Given the description of an element on the screen output the (x, y) to click on. 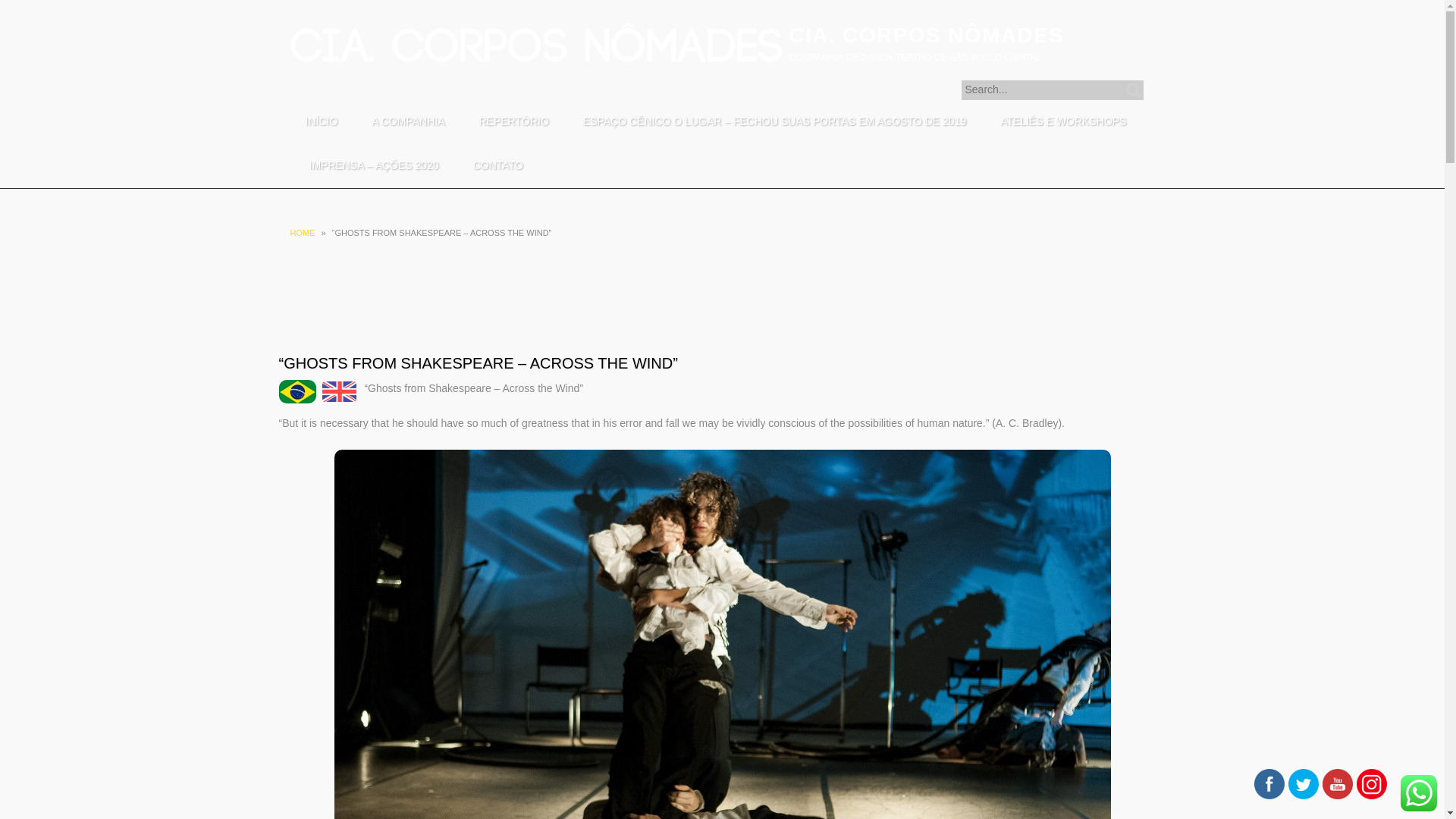
Siga! (1268, 784)
CONTATO (498, 166)
Siga! (1303, 784)
Se inscreva em nosso canal (1337, 784)
A COMPANHIA (408, 121)
HOME (301, 232)
Siga! (1371, 784)
